Given the description of an element on the screen output the (x, y) to click on. 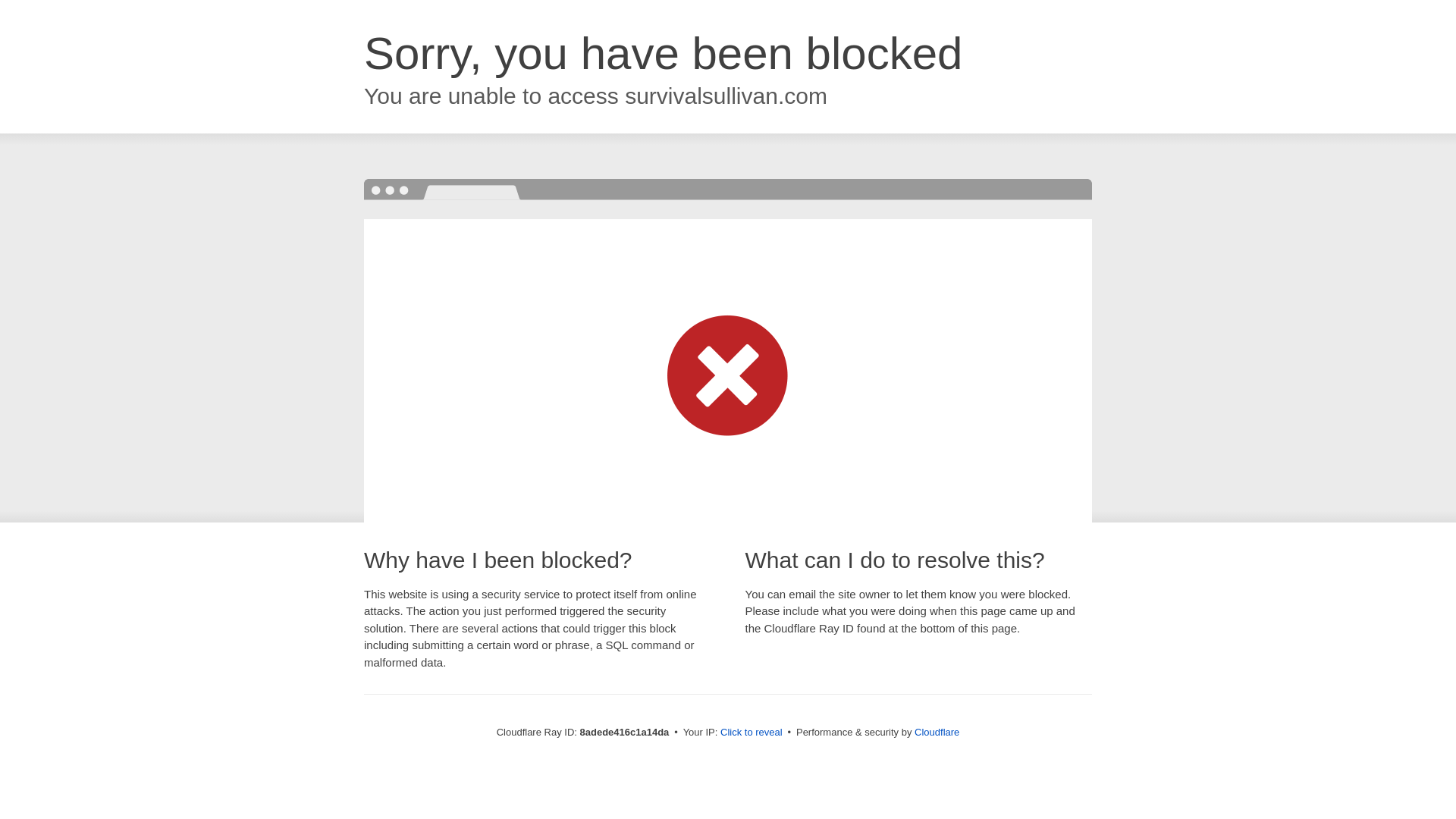
Click to reveal (751, 732)
Cloudflare (936, 731)
